Given the description of an element on the screen output the (x, y) to click on. 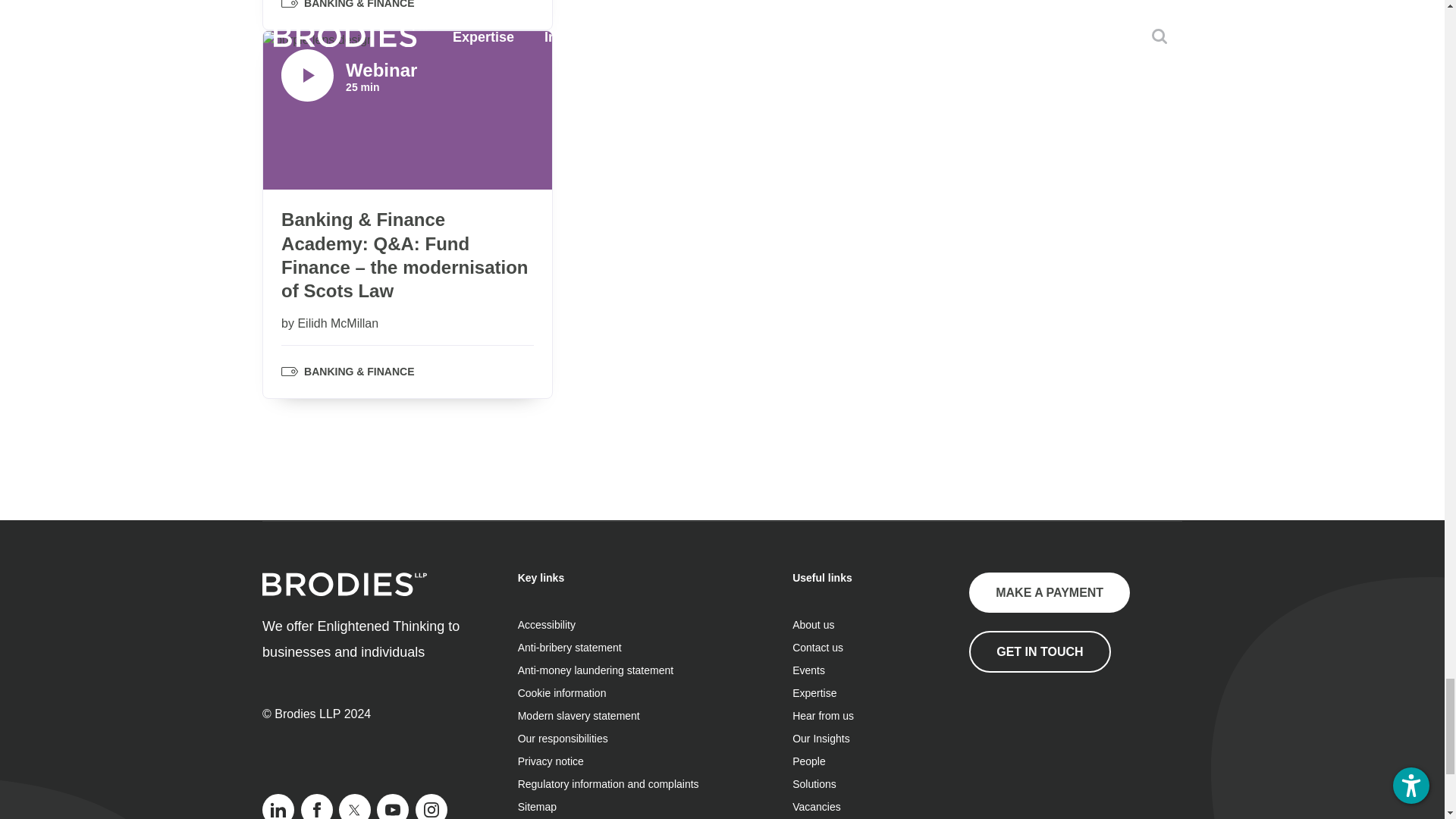
Solicitors Regulation Authority link (1045, 747)
Click to return to the homepage (344, 591)
